Given the description of an element on the screen output the (x, y) to click on. 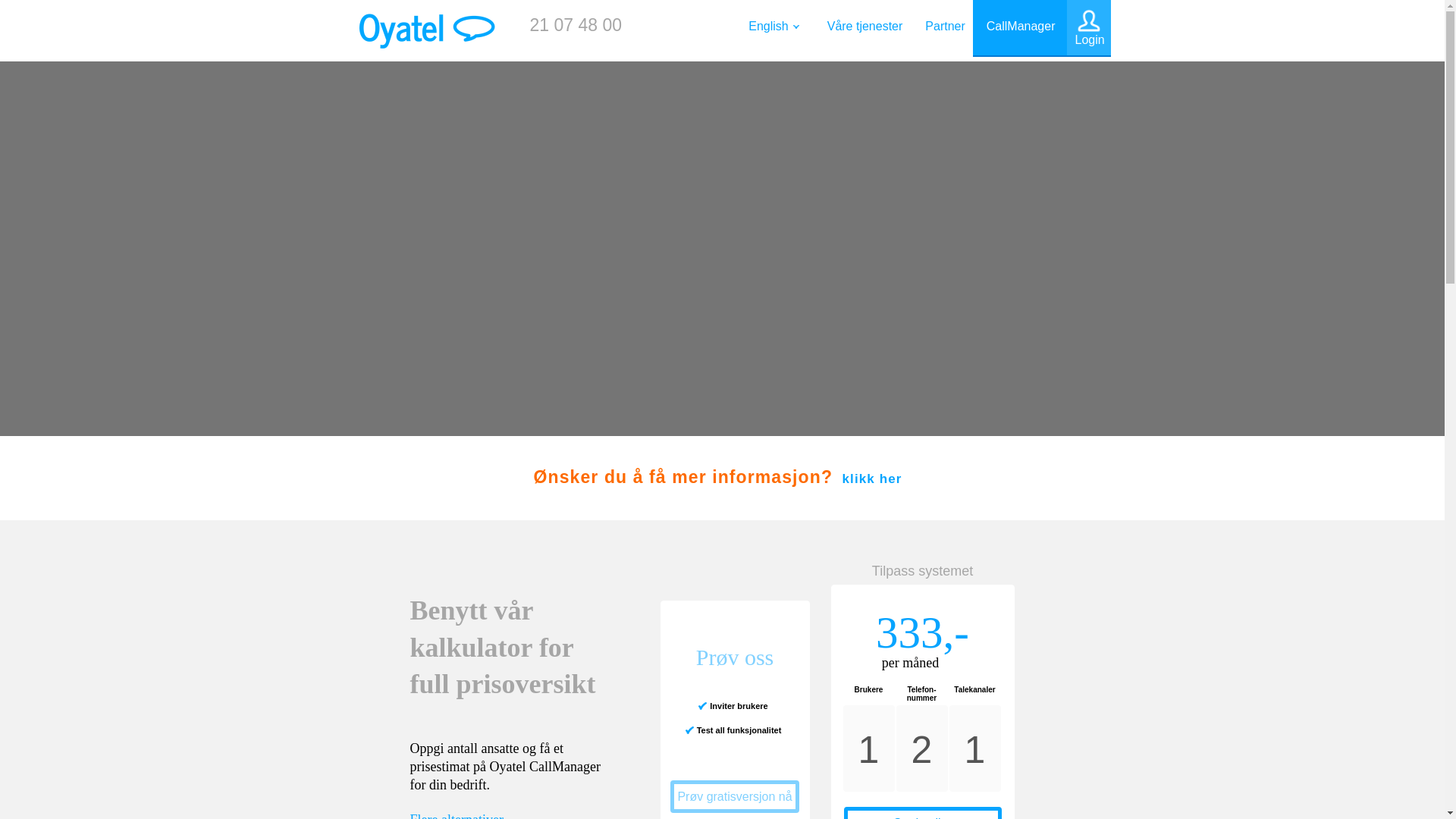
klikk her (877, 478)
Partner (944, 28)
Se detaljer (922, 814)
Flere alternativer (460, 815)
CallManager (1019, 28)
21 07 48 00 (575, 25)
English (770, 28)
